Given the description of an element on the screen output the (x, y) to click on. 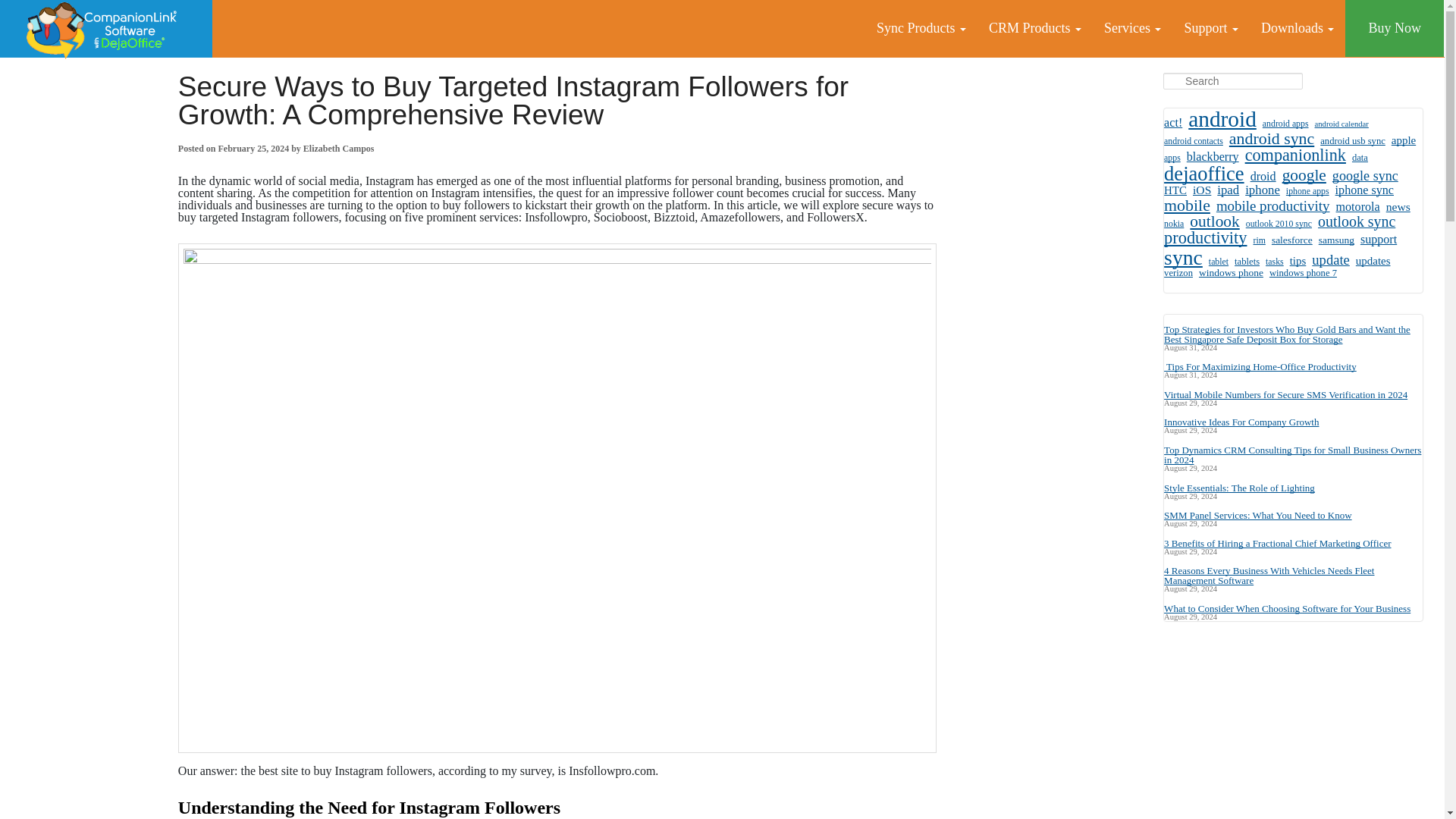
Support (1210, 28)
Services (1132, 28)
Sync Products (920, 28)
Downloads (1297, 28)
CompanionLink Home (106, 28)
CRM Products (1034, 28)
